Given the description of an element on the screen output the (x, y) to click on. 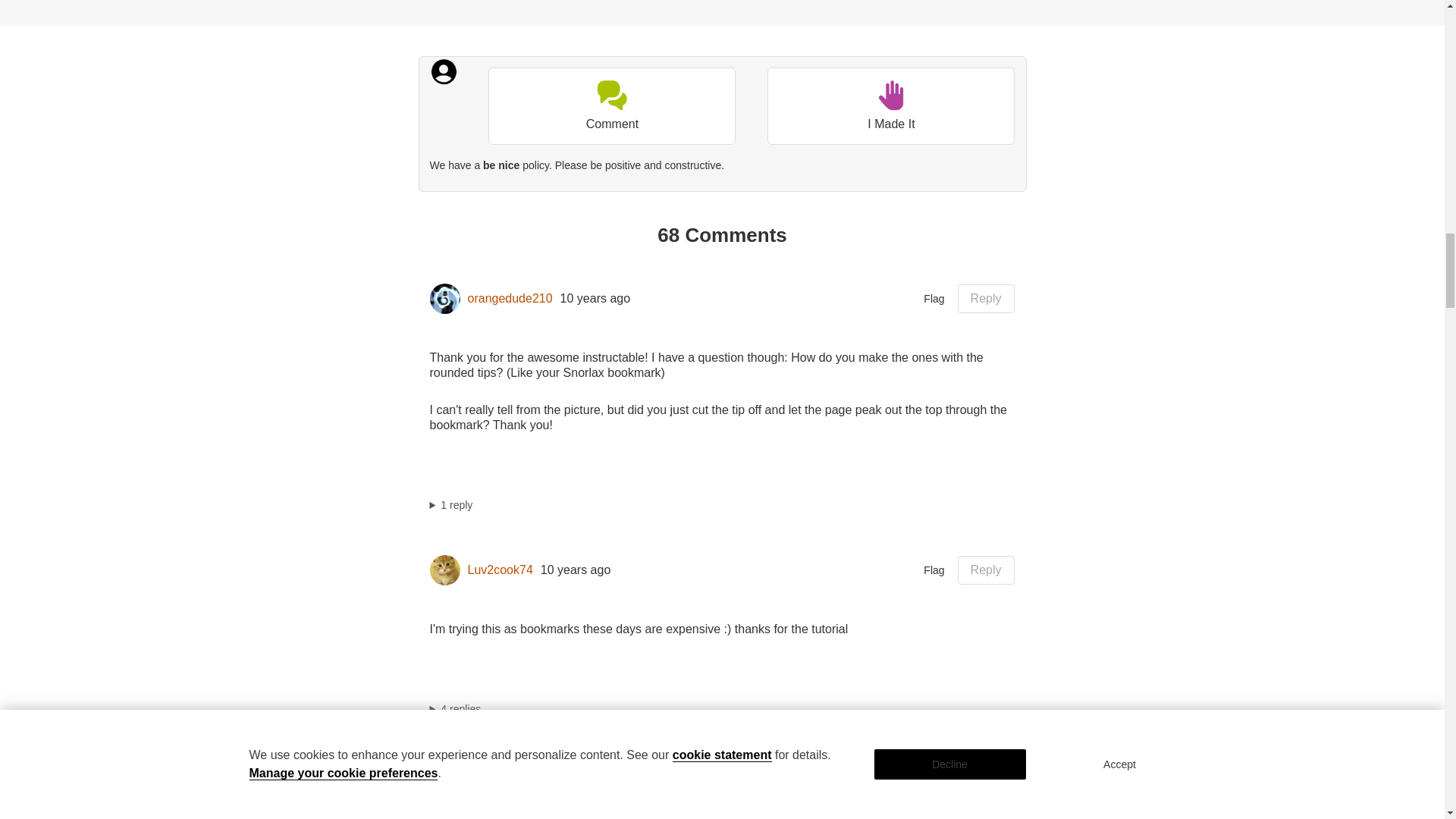
2014-12-15 01:48:36.0 (575, 570)
2014-11-30 11:44:20.0 (579, 774)
2014-12-30 20:52:52.0 (595, 298)
